Given the description of an element on the screen output the (x, y) to click on. 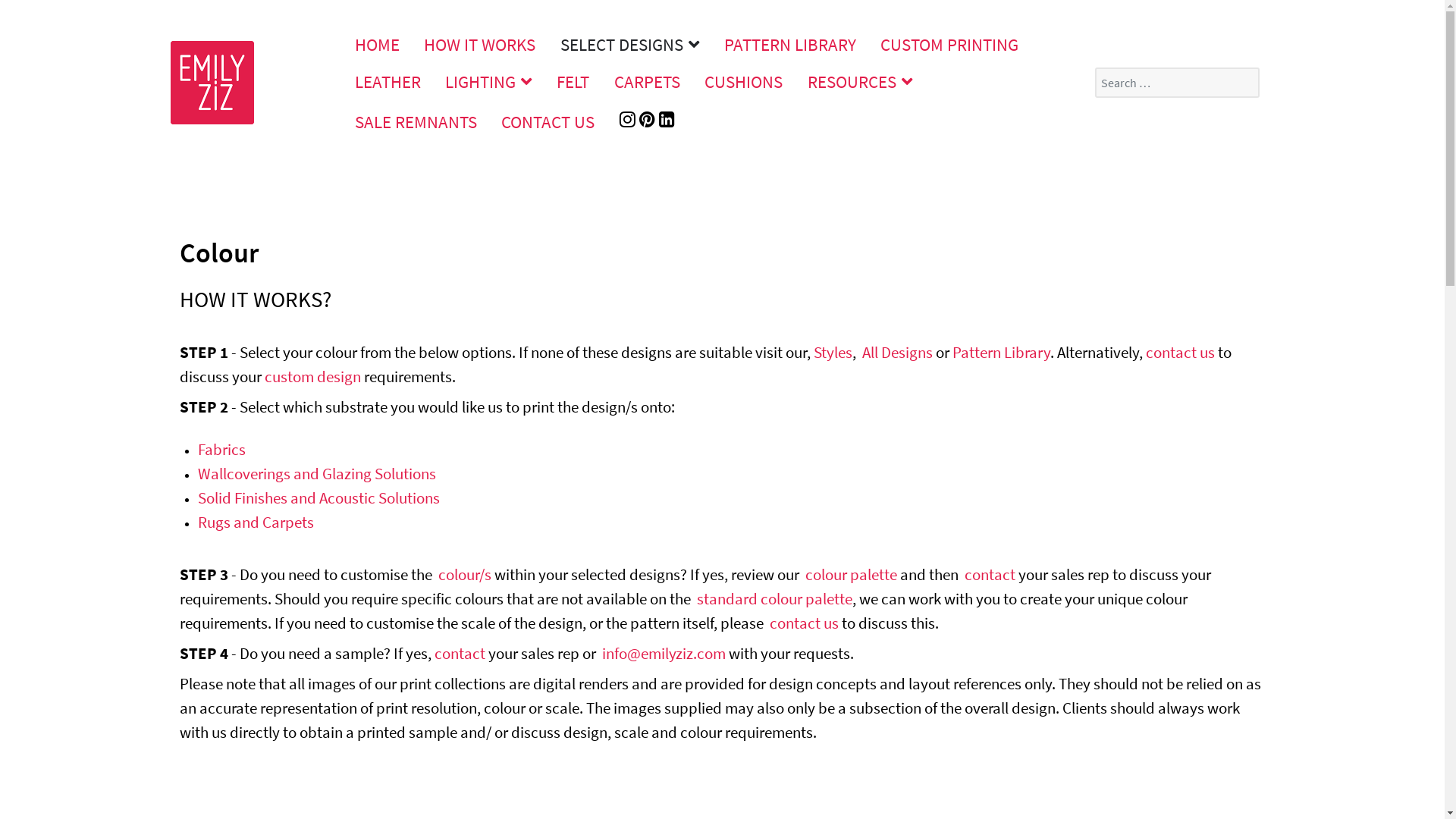
Emilyziz Element type: hover (211, 80)
Solid Finishes and Acoustic Solutions Element type: text (318, 497)
CARPETS Element type: text (646, 81)
colour palette Element type: text (851, 574)
contact Element type: text (458, 653)
CUSTOM PRINTING Element type: text (949, 43)
colour/s Element type: text (464, 574)
contact Element type: text (989, 574)
Fabrics Element type: text (220, 449)
Pattern Library Element type: text (1001, 352)
CUSHIONS Element type: text (743, 81)
custom design Element type: text (311, 376)
SALE REMNANTS Element type: text (415, 121)
LIGHTING Element type: text (488, 81)
HOME Element type: text (377, 43)
PATTERN LIBRARY Element type: text (789, 43)
HOW IT WORKS Element type: text (480, 43)
CONTACT US Element type: text (548, 121)
standard colour palette Element type: text (773, 598)
contact us Element type: text (802, 622)
Styles Element type: text (831, 352)
info@emilyziz.com Element type: text (663, 653)
RESOURCES Element type: text (859, 81)
contact us Element type: text (1179, 352)
FELT Element type: text (572, 81)
Wallcoverings and Glazing Solutions Element type: text (316, 473)
SELECT DESIGNS Element type: text (629, 43)
Rugs and Carpets Element type: text (255, 521)
LEATHER Element type: text (387, 81)
All Designs Element type: text (896, 352)
